Given the description of an element on the screen output the (x, y) to click on. 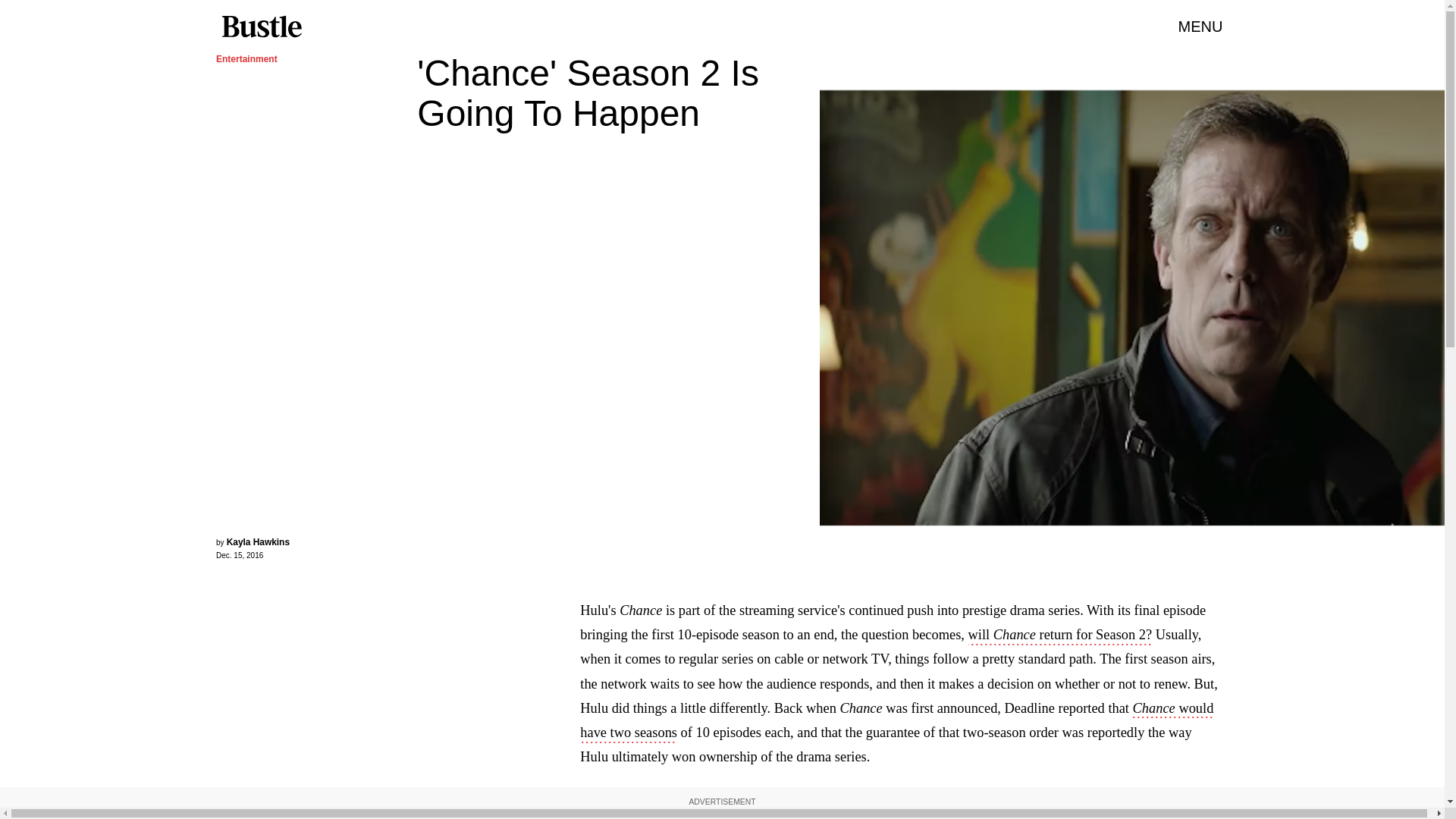
Chance would have two seasons (895, 721)
will Chance return for Season 2? (1060, 636)
Bustle (261, 26)
